Given the description of an element on the screen output the (x, y) to click on. 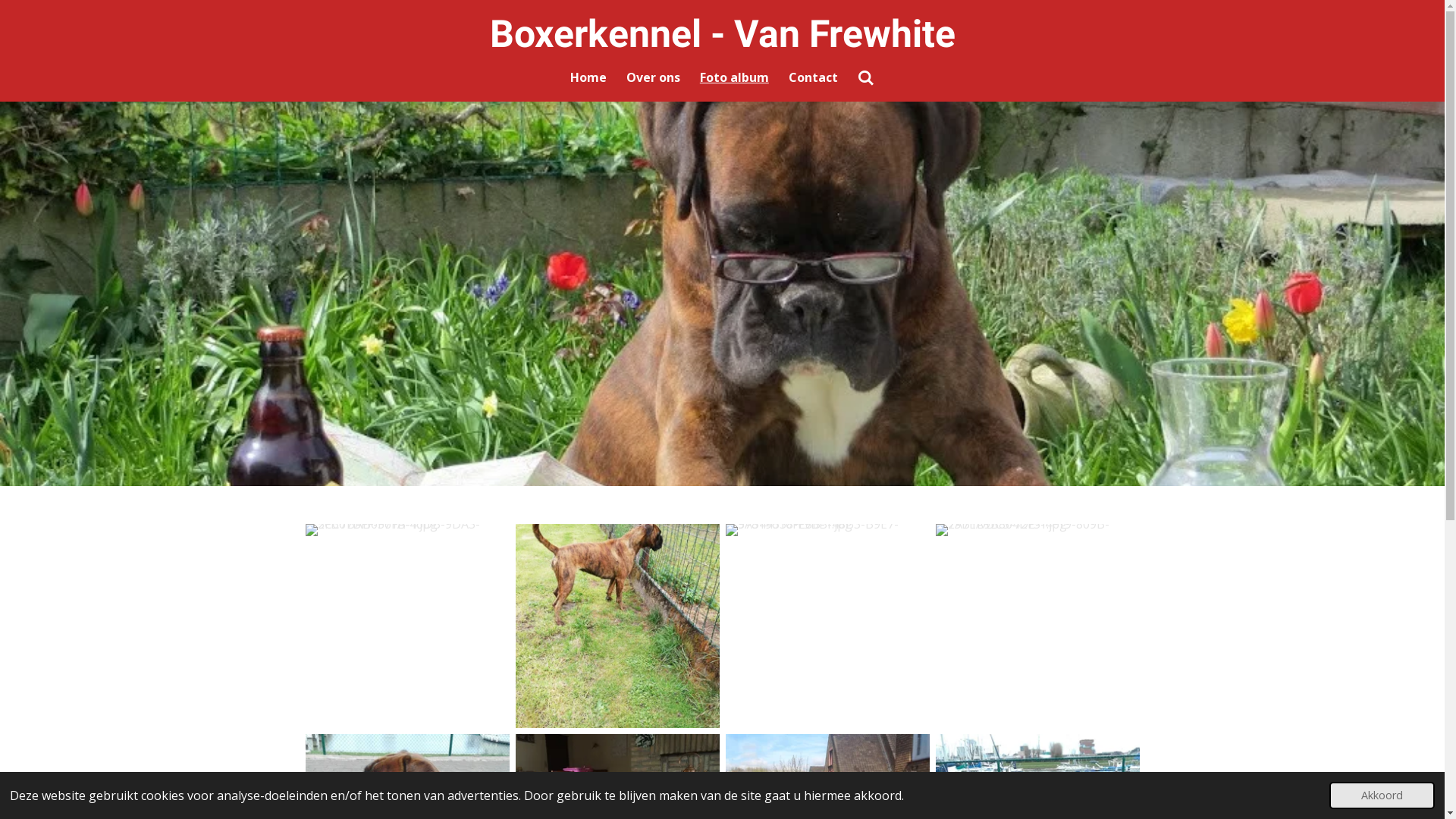
Home Element type: text (588, 77)
Zoeken Element type: hover (865, 77)
Boxerkennel - Van Frewhite Element type: text (722, 34)
Over ons Element type: text (653, 77)
Contact Element type: text (812, 77)
Akkoord Element type: text (1381, 795)
Foto album Element type: text (734, 77)
